Given the description of an element on the screen output the (x, y) to click on. 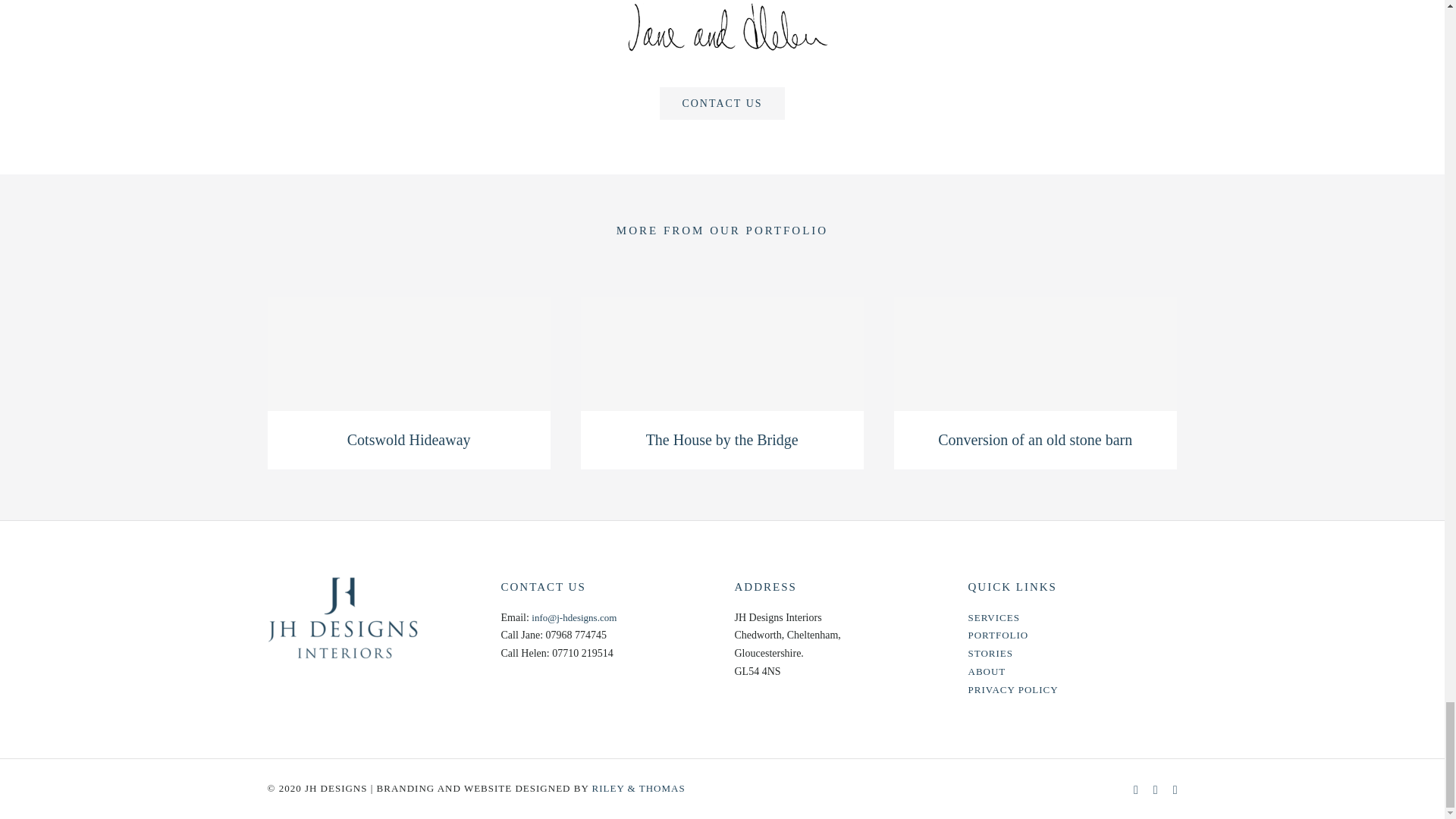
STORIES (990, 653)
SERVICES (993, 617)
PRIVACY POLICY (1013, 689)
Cotswold Hideaway (408, 439)
The House by the Bridge (721, 439)
ABOUT (987, 671)
Conversion of an old stone barn (1034, 439)
CONTACT US (721, 102)
PORTFOLIO (997, 634)
